Given the description of an element on the screen output the (x, y) to click on. 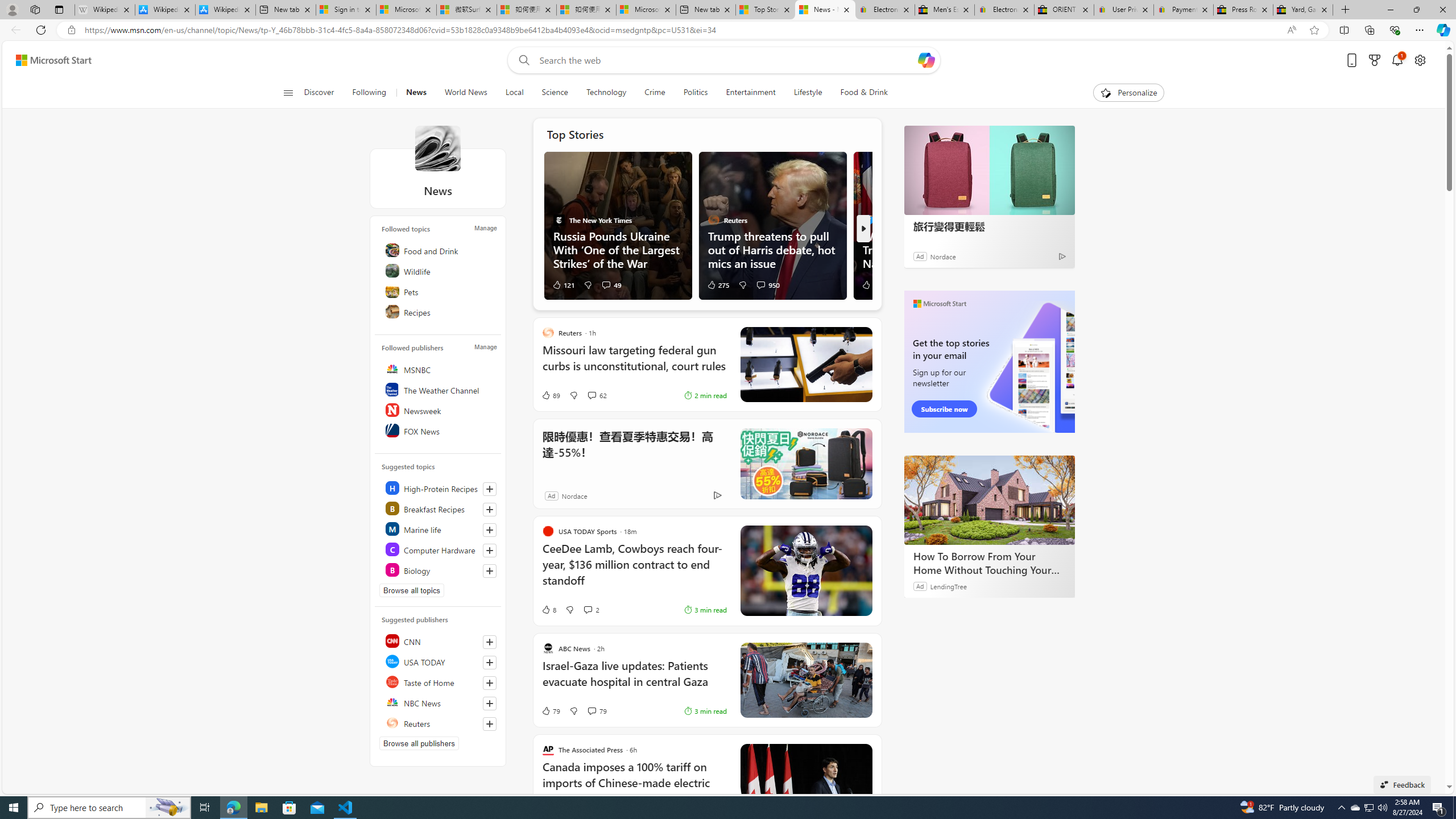
Top Stories - MSN (765, 9)
Personalize (1128, 92)
Discover (319, 92)
Recipes (439, 311)
Feedback (1402, 784)
Technology (606, 92)
See more (864, 751)
Class: button-glyph (287, 92)
Personal Profile (12, 9)
